Given the description of an element on the screen output the (x, y) to click on. 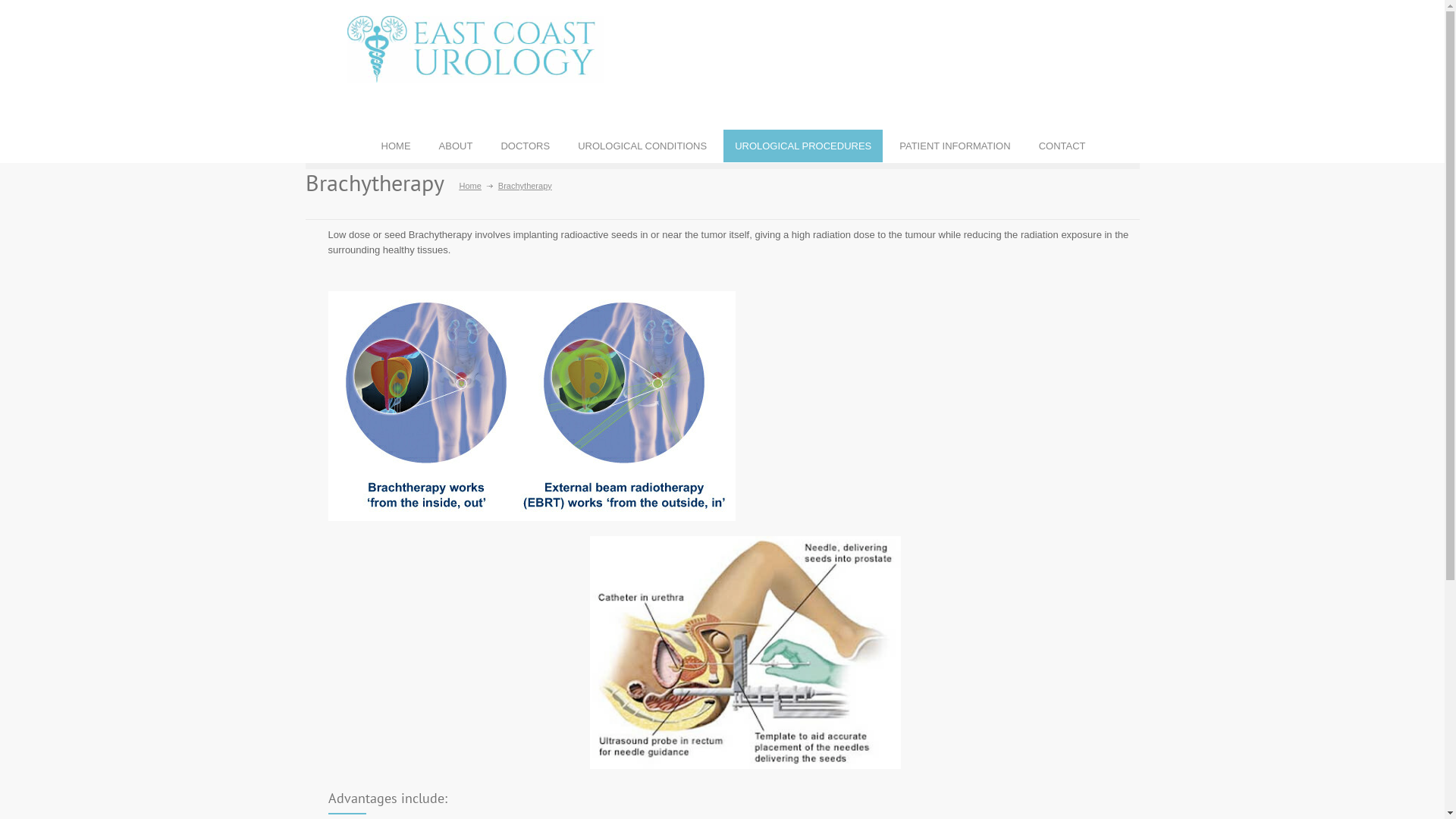
PATIENT INFORMATION Element type: text (954, 145)
UROLOGICAL PROCEDURES Element type: text (802, 145)
HOME Element type: text (396, 145)
DOCTORS Element type: text (524, 145)
UROLOGICAL CONDITIONS Element type: text (641, 145)
Home Element type: text (470, 185)
CONTACT Element type: text (1062, 145)
ABOUT Element type: text (455, 145)
